Given the description of an element on the screen output the (x, y) to click on. 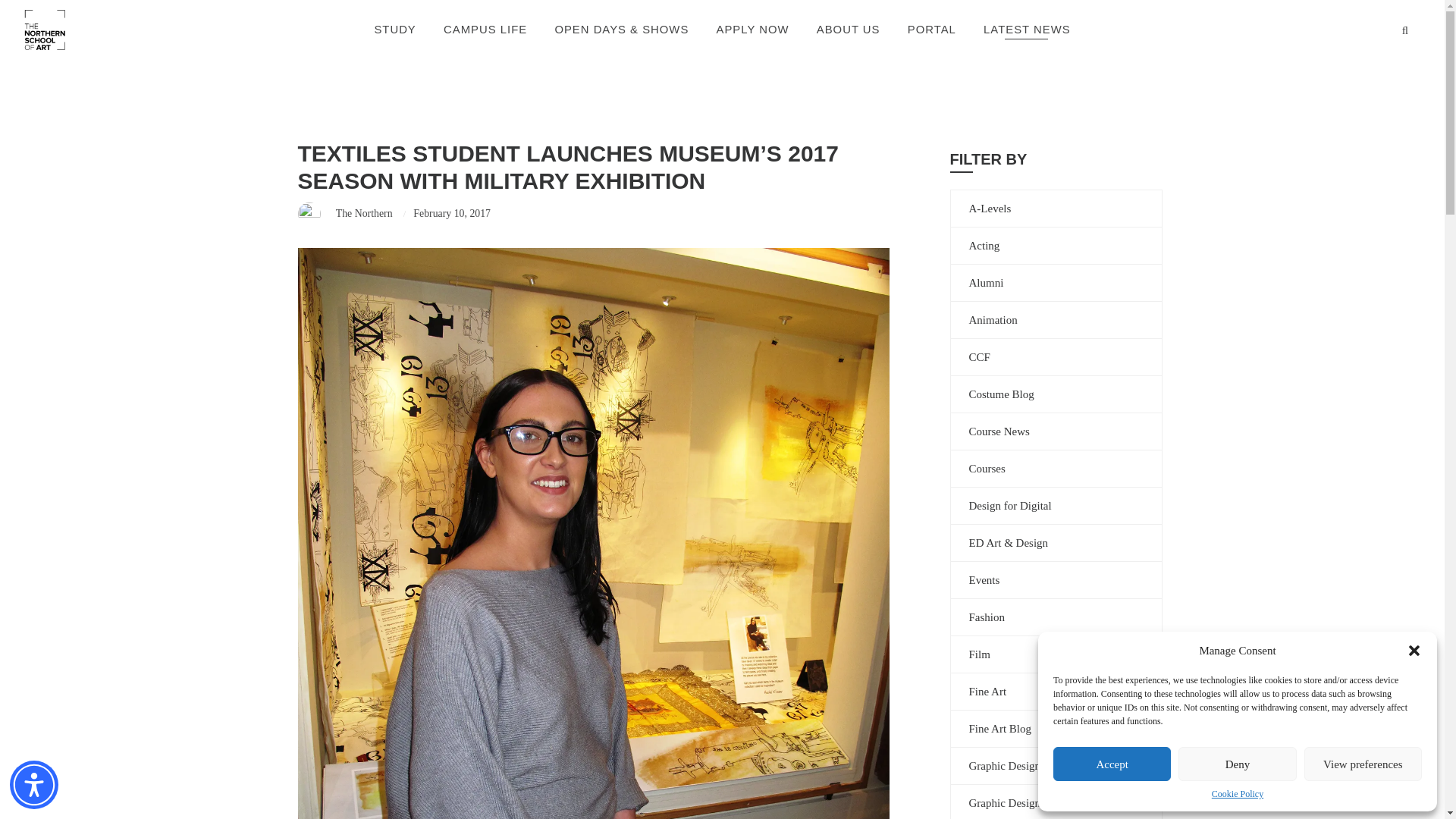
View preferences (1363, 763)
CAMPUS LIFE (485, 29)
STUDY (394, 29)
Deny (1236, 763)
Accessibility Menu (34, 784)
Cookie Policy (1237, 794)
Accept (1111, 763)
